Given the description of an element on the screen output the (x, y) to click on. 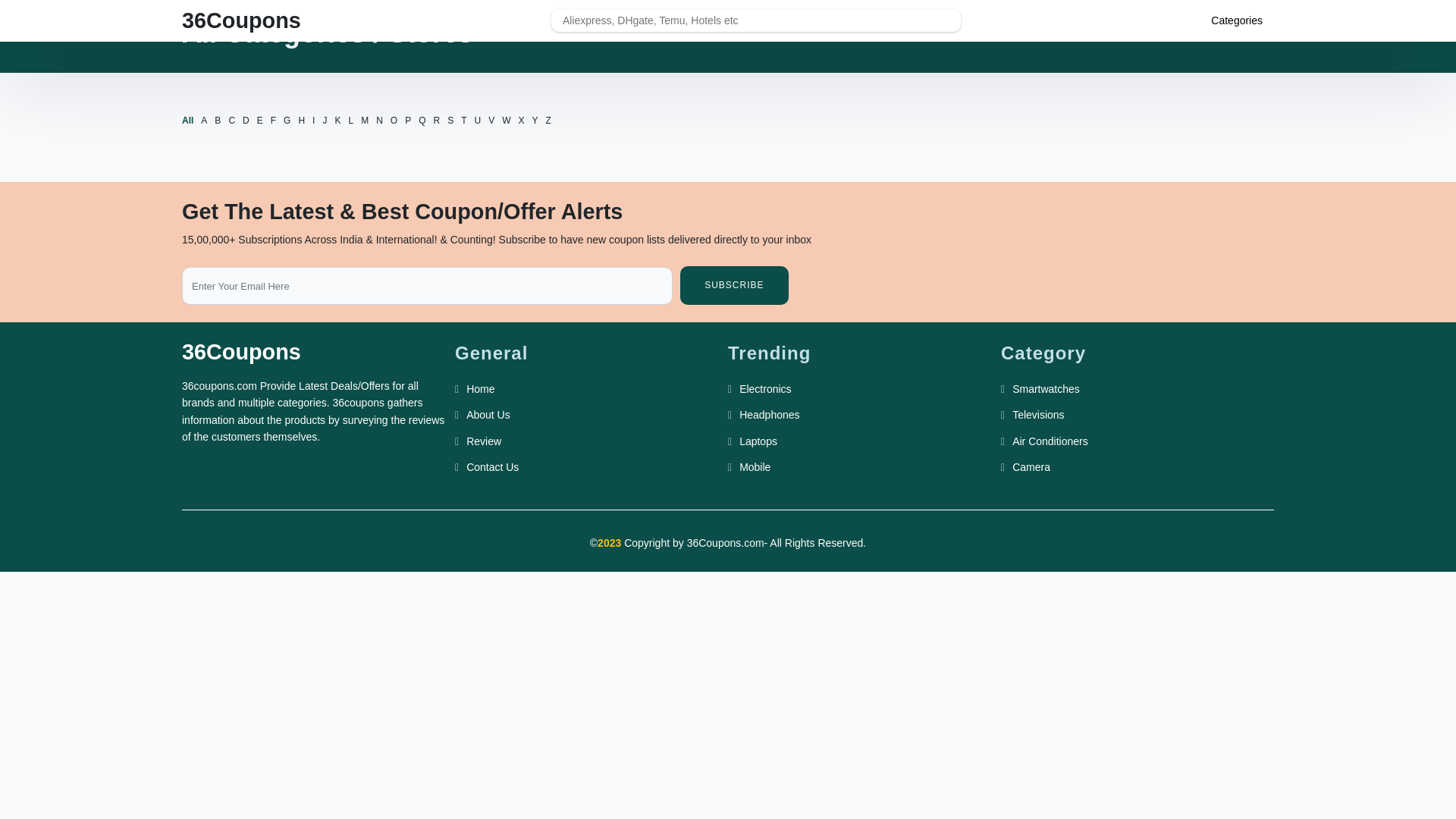
Categories Element type: text (1236, 20)
Review Element type: text (483, 441)
Home Element type: text (480, 388)
Mobile Element type: text (754, 467)
Contact Us Element type: text (492, 467)
Headphones Element type: text (769, 414)
SUBSCRIBE Element type: text (733, 285)
Air Conditioners Element type: text (1050, 441)
Camera Element type: text (1031, 467)
Televisions Element type: text (1037, 414)
About Us Element type: text (488, 414)
36Coupons Element type: text (241, 20)
Smartwatches Element type: text (1045, 388)
Electronics Element type: text (764, 388)
Laptops Element type: text (758, 441)
